Given the description of an element on the screen output the (x, y) to click on. 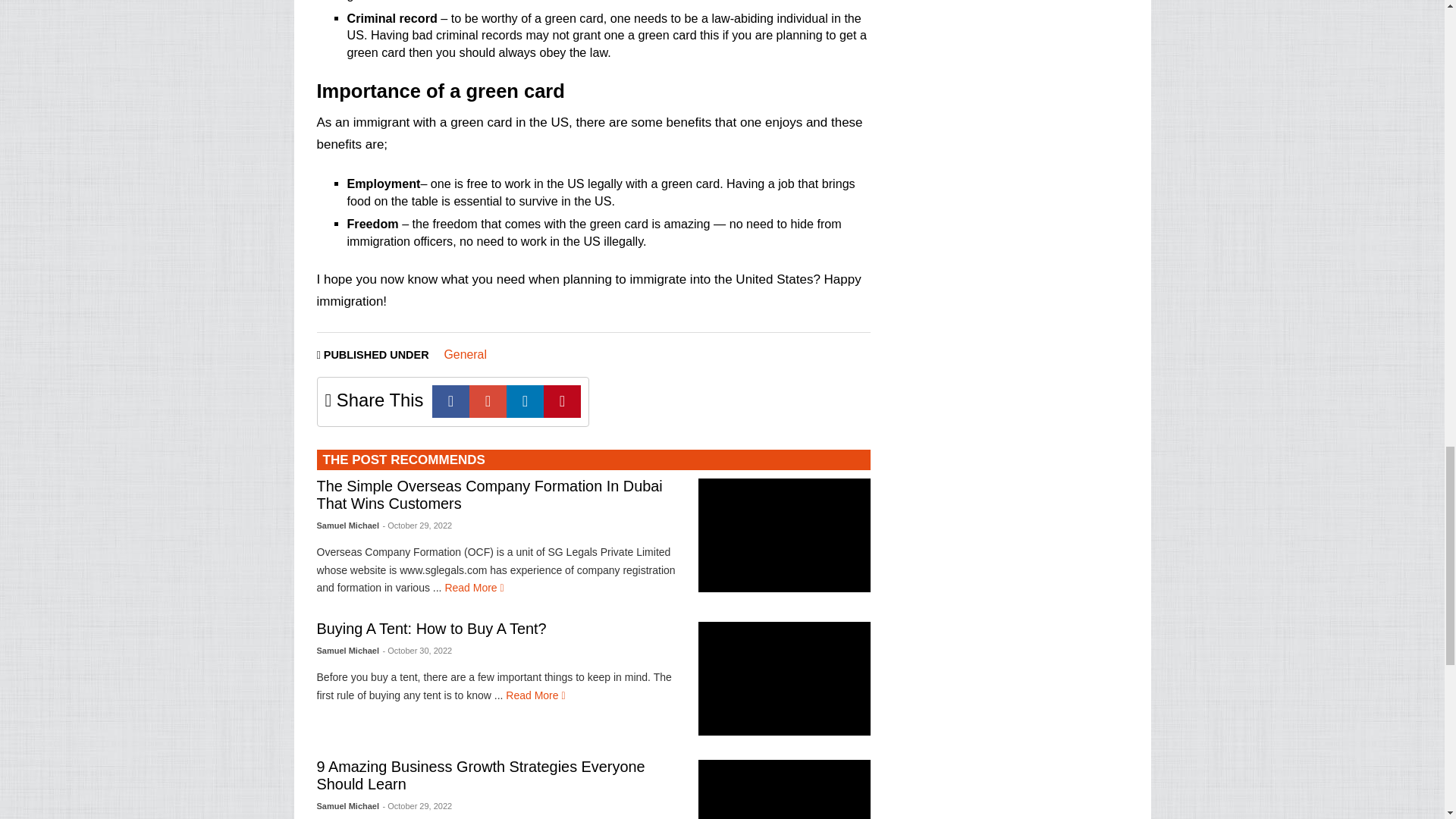
Buying A Tent: How to Buy A Tent? (534, 695)
E-mail (487, 400)
Buying A Tent: How to Buy A Tent? (432, 628)
Buying A Tent: How to Buy A Tent? (783, 678)
Pinterest (561, 400)
Linkedin (524, 400)
9 Amazing Business Growth Strategies Everyone Should Learn (783, 789)
